Given the description of an element on the screen output the (x, y) to click on. 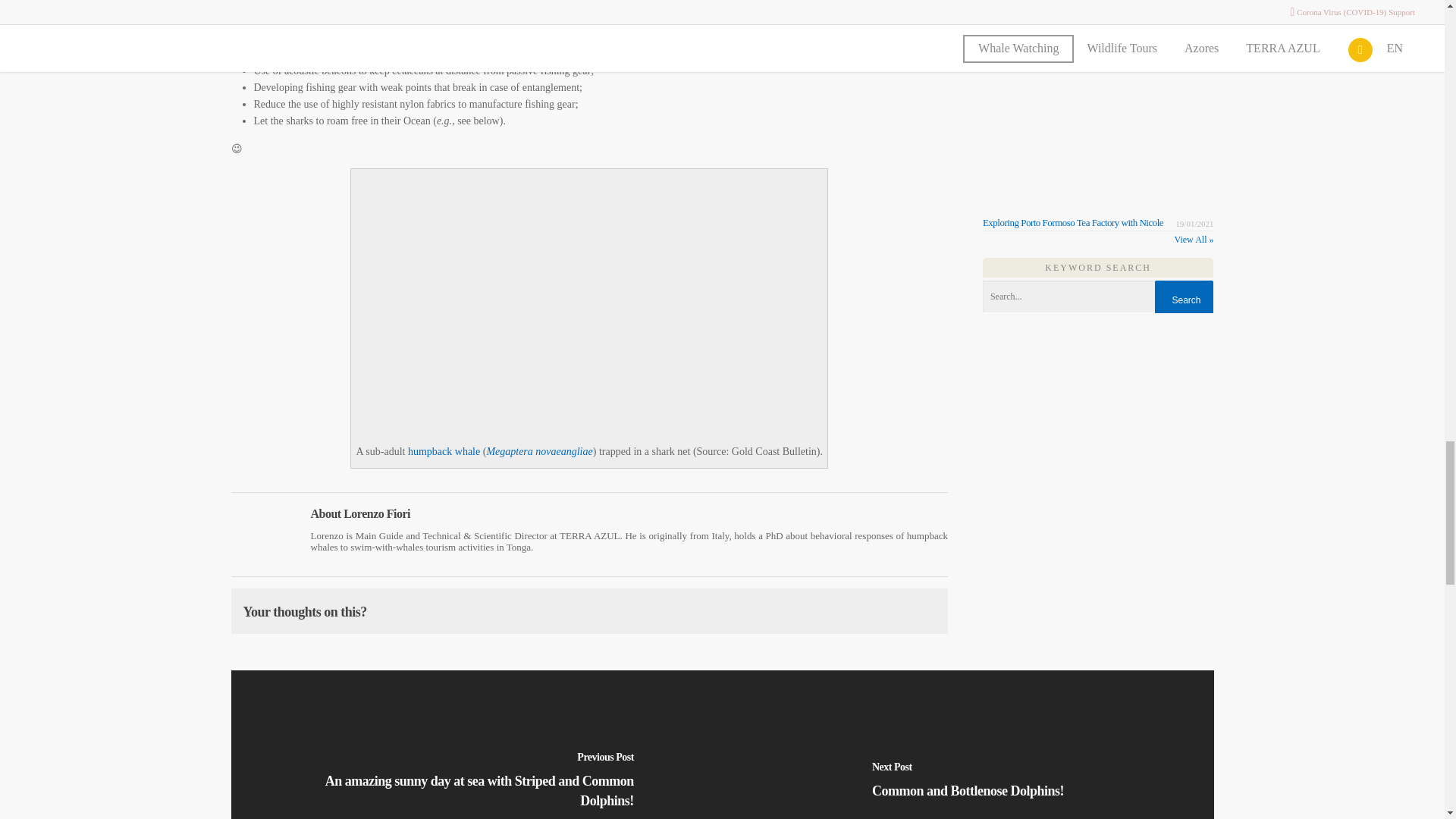
Search (1183, 300)
Search (1183, 300)
